Given the description of an element on the screen output the (x, y) to click on. 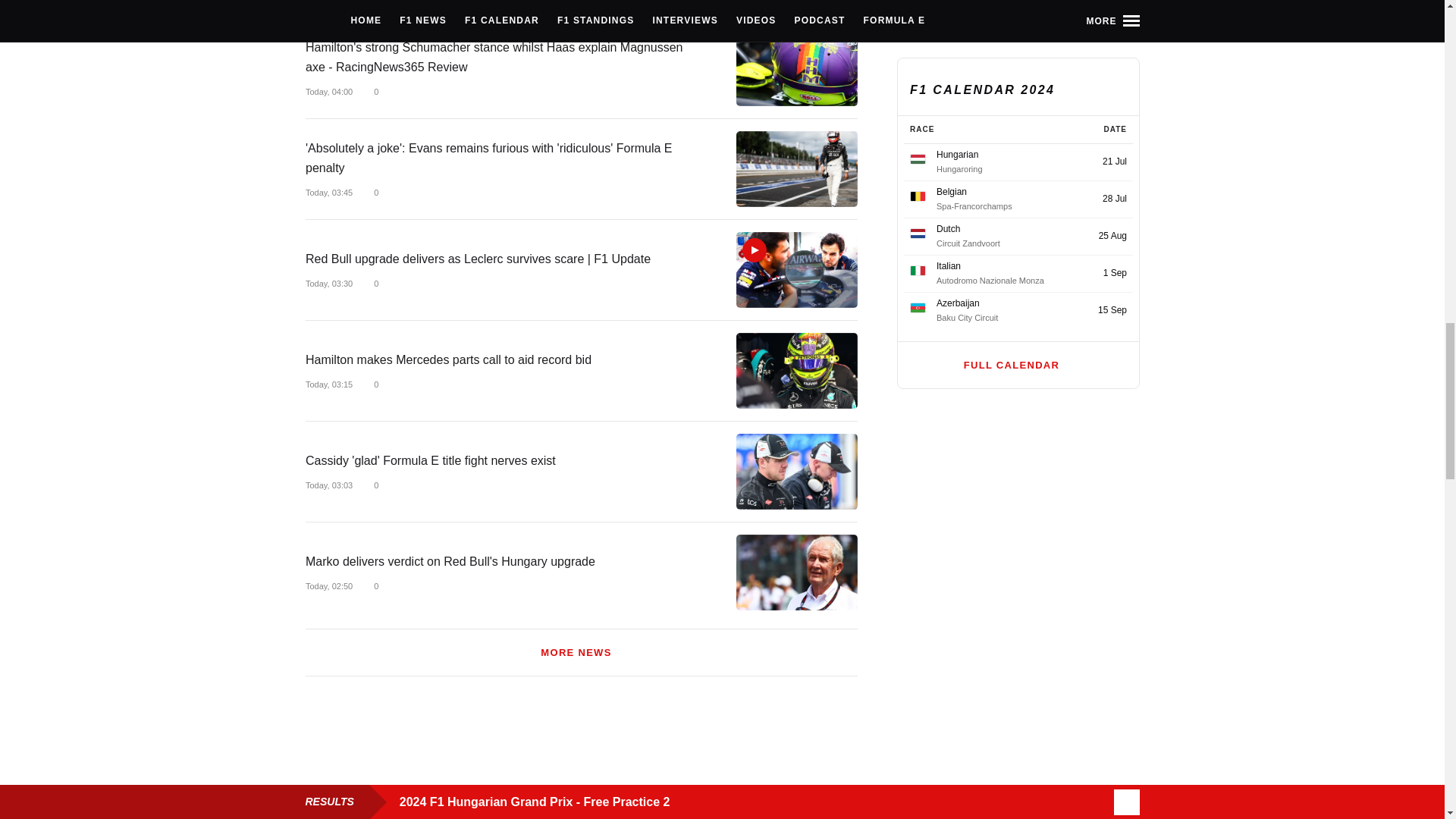
Saturday 20 July 2024 at 04:00 (328, 91)
